Given the description of an element on the screen output the (x, y) to click on. 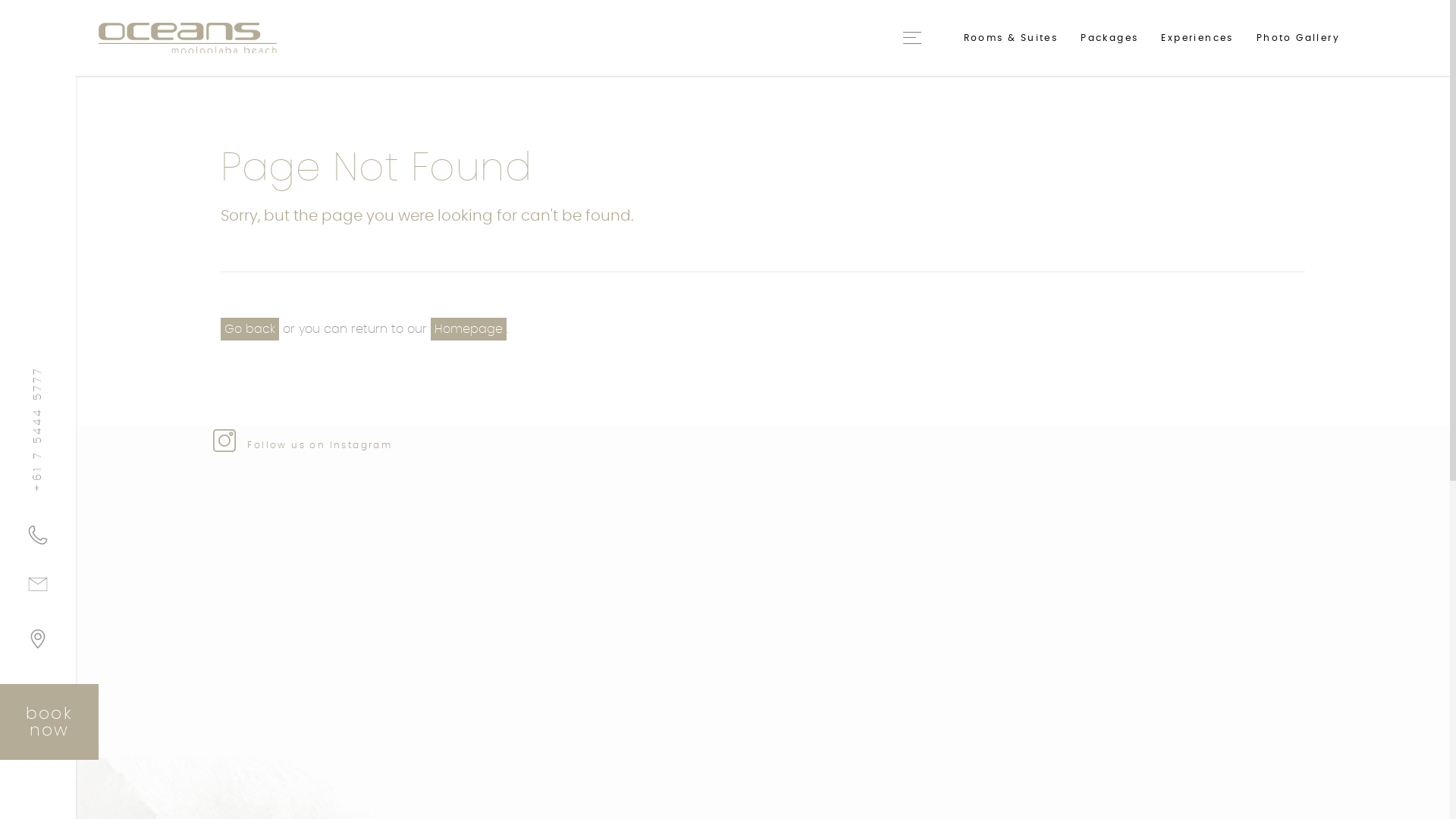
Find Us Element type: hover (37, 644)
Experiences Element type: text (1196, 37)
Go back Element type: text (249, 328)
Oceans Mooloolaba Resort Element type: hover (187, 37)
book now Element type: text (49, 721)
Photo Gallery Element type: text (1298, 37)
+61 7 5444 5777 Element type: text (37, 534)
Email Us Element type: hover (37, 589)
Rooms & Suites Element type: text (1011, 37)
Follow us on Instagram Element type: text (302, 444)
Packages Element type: text (1109, 37)
Homepage Element type: text (468, 328)
